Given the description of an element on the screen output the (x, y) to click on. 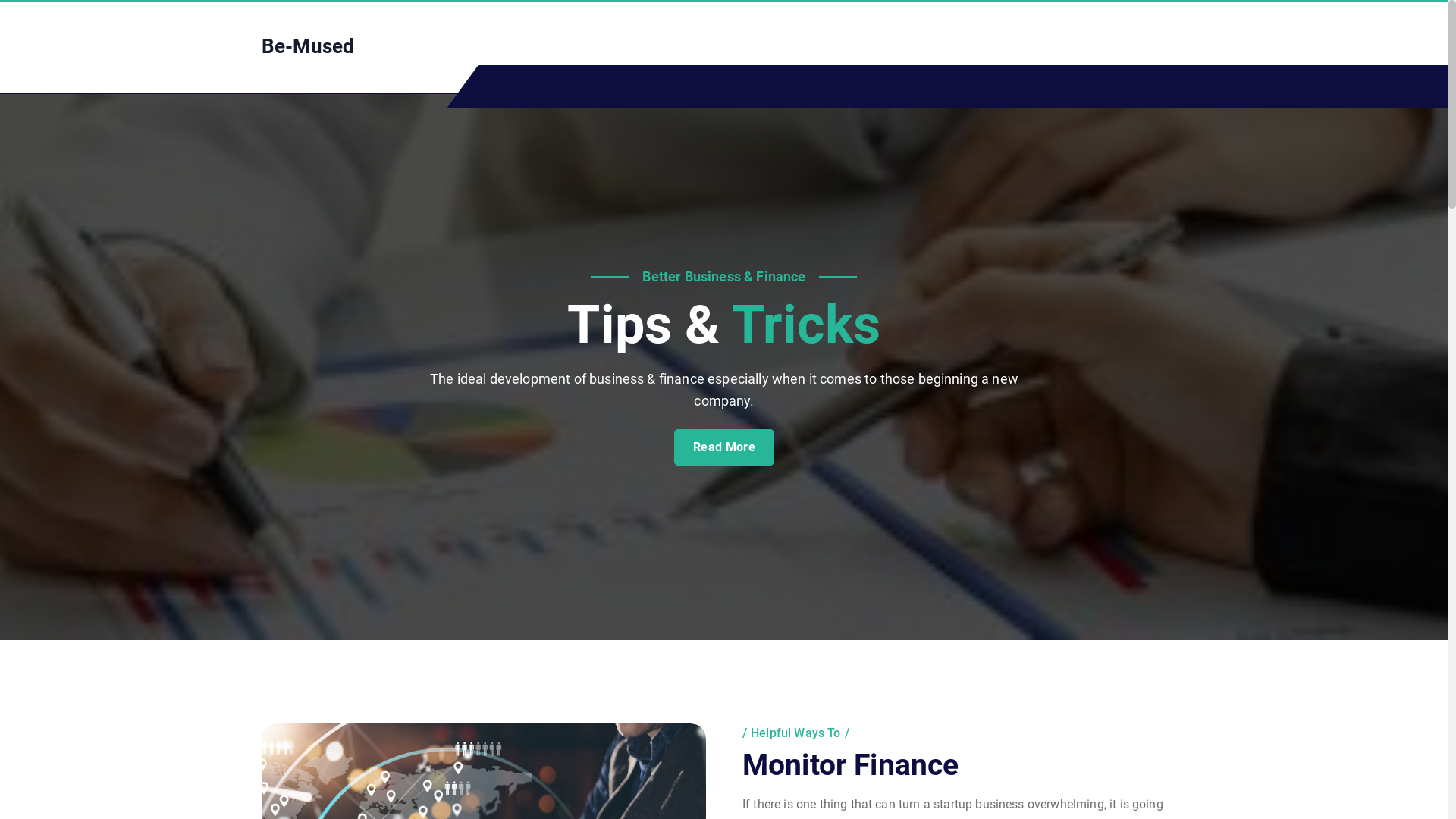
Read More Element type: text (724, 447)
Be-Mused Element type: text (307, 46)
